Given the description of an element on the screen output the (x, y) to click on. 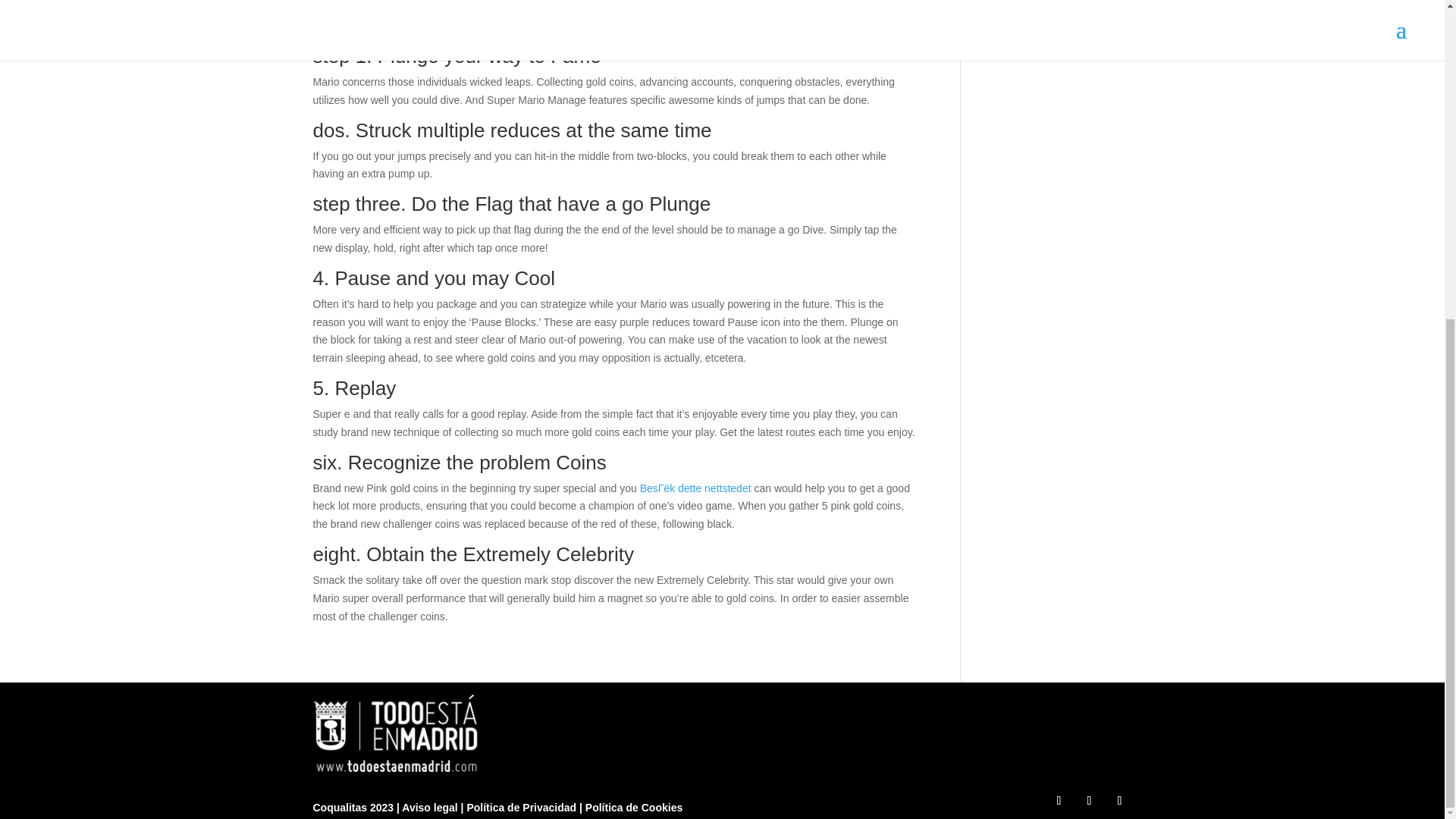
logo-todoestaenmadrid (398, 732)
Seguir en Facebook (1058, 800)
Coqualitas 2023  (354, 807)
Seguir en Youtube (1118, 800)
Seguir en Instagram (1088, 800)
Aviso legal  (430, 807)
